Given the description of an element on the screen output the (x, y) to click on. 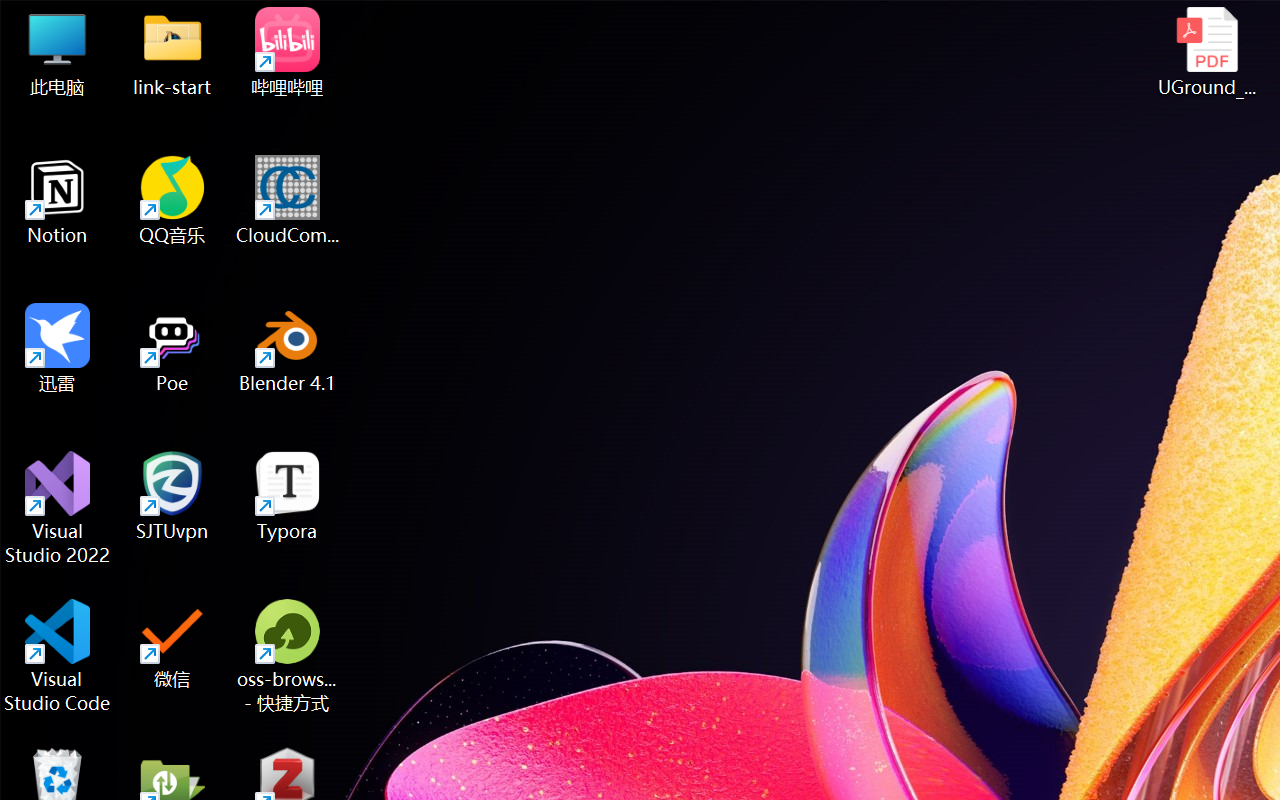
Typora (287, 496)
Visual Studio 2022 (57, 508)
Visual Studio Code (57, 656)
UGround_paper.pdf (1206, 52)
CloudCompare (287, 200)
Blender 4.1 (287, 348)
SJTUvpn (172, 496)
